Given the description of an element on the screen output the (x, y) to click on. 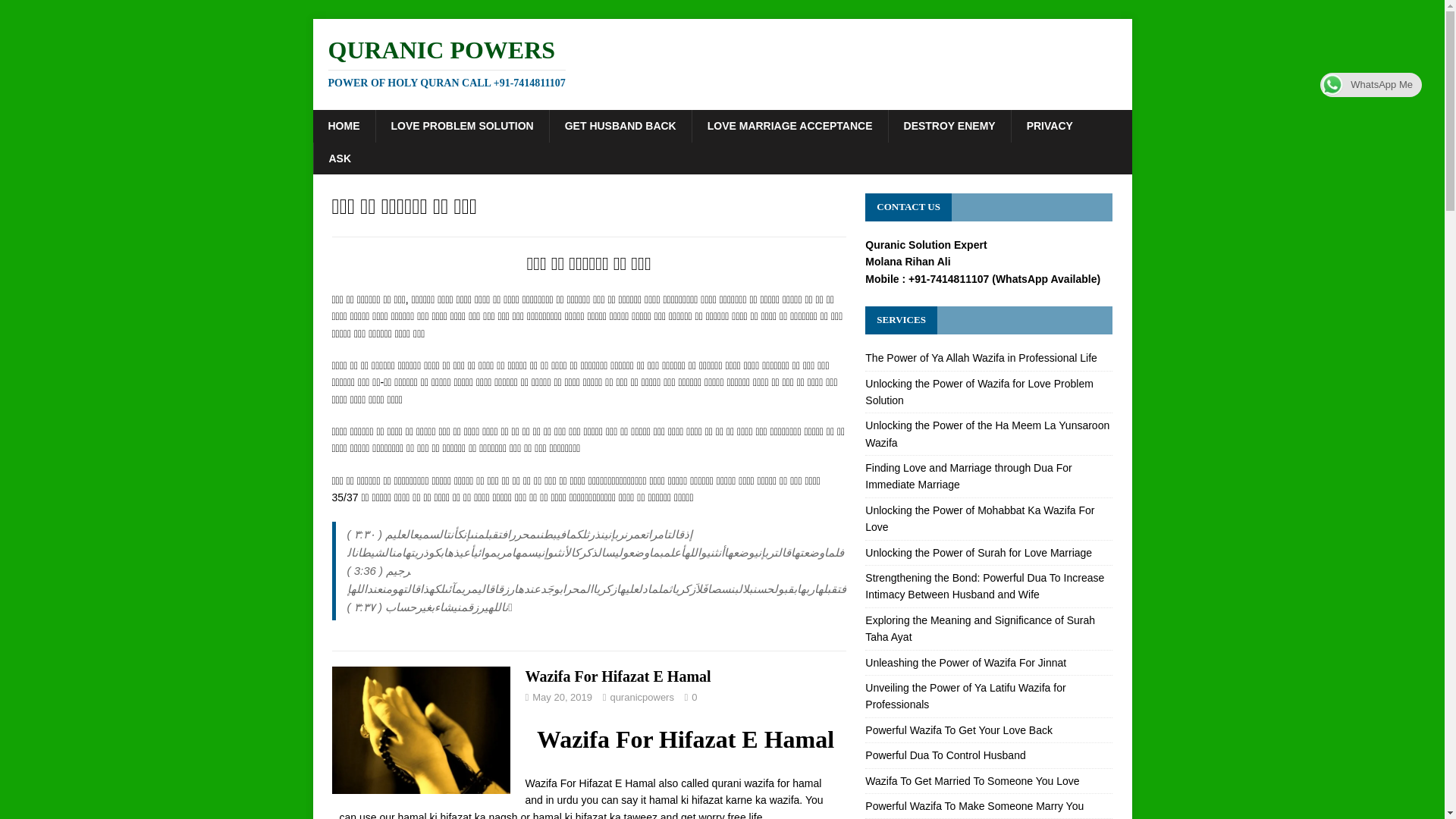
Unlocking the Power of Surah for Love Marriage (978, 552)
Unleashing the Power of Wazifa For Jinnat (964, 662)
Unlocking the Power of Wazifa for Love Problem Solution (978, 391)
Unlocking the Power of Mohabbat Ka Wazifa For Love (979, 518)
quranicpowers (642, 696)
Wazifa To Get Married To Someone You Love (971, 780)
LOVE PROBLEM SOLUTION (461, 125)
ASK (339, 158)
DESTROY ENEMY (949, 125)
Quranic Powers (721, 62)
